Given the description of an element on the screen output the (x, y) to click on. 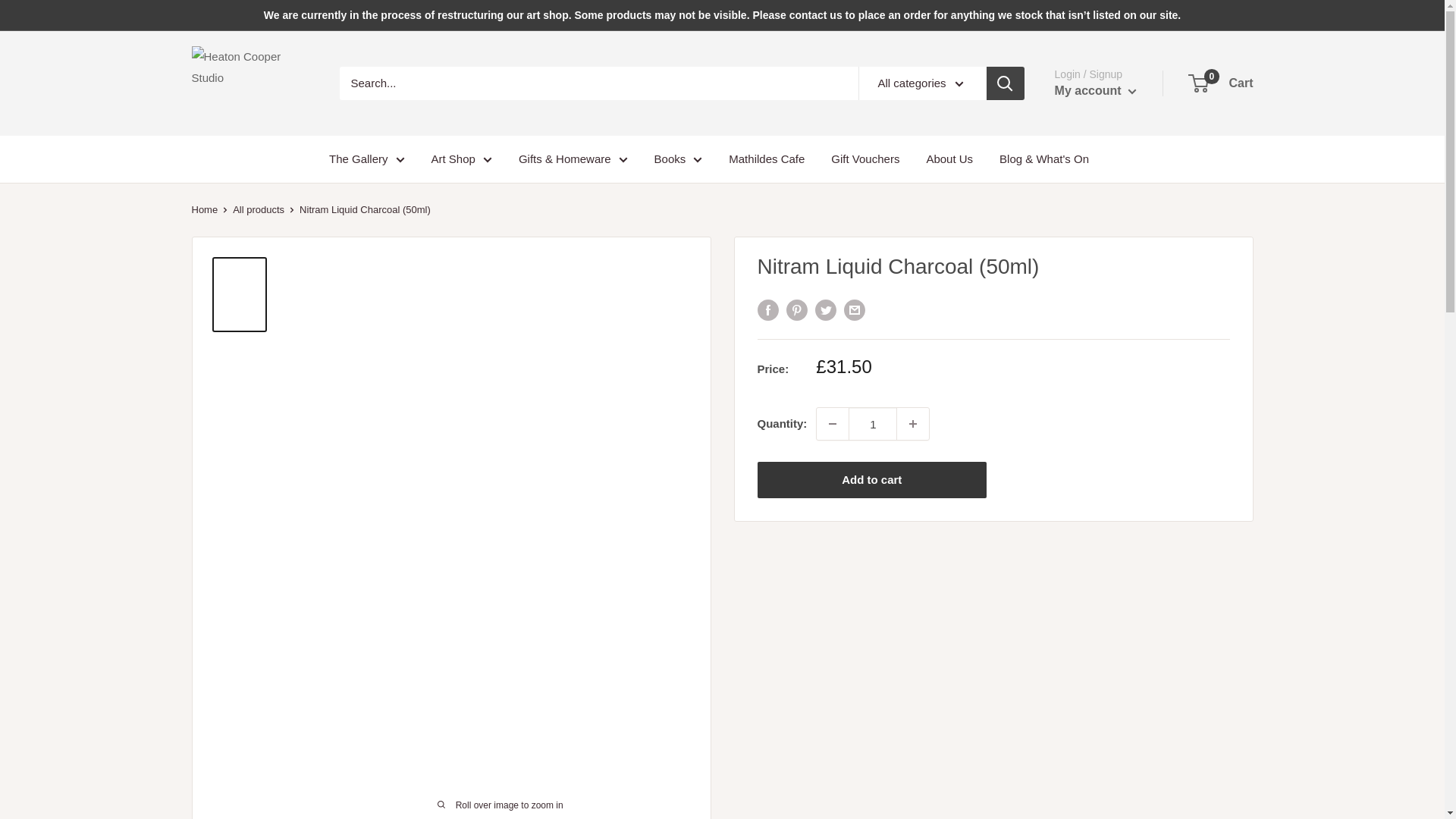
Decrease quantity by 1 (832, 423)
1 (872, 423)
Increase quantity by 1 (912, 423)
